Given the description of an element on the screen output the (x, y) to click on. 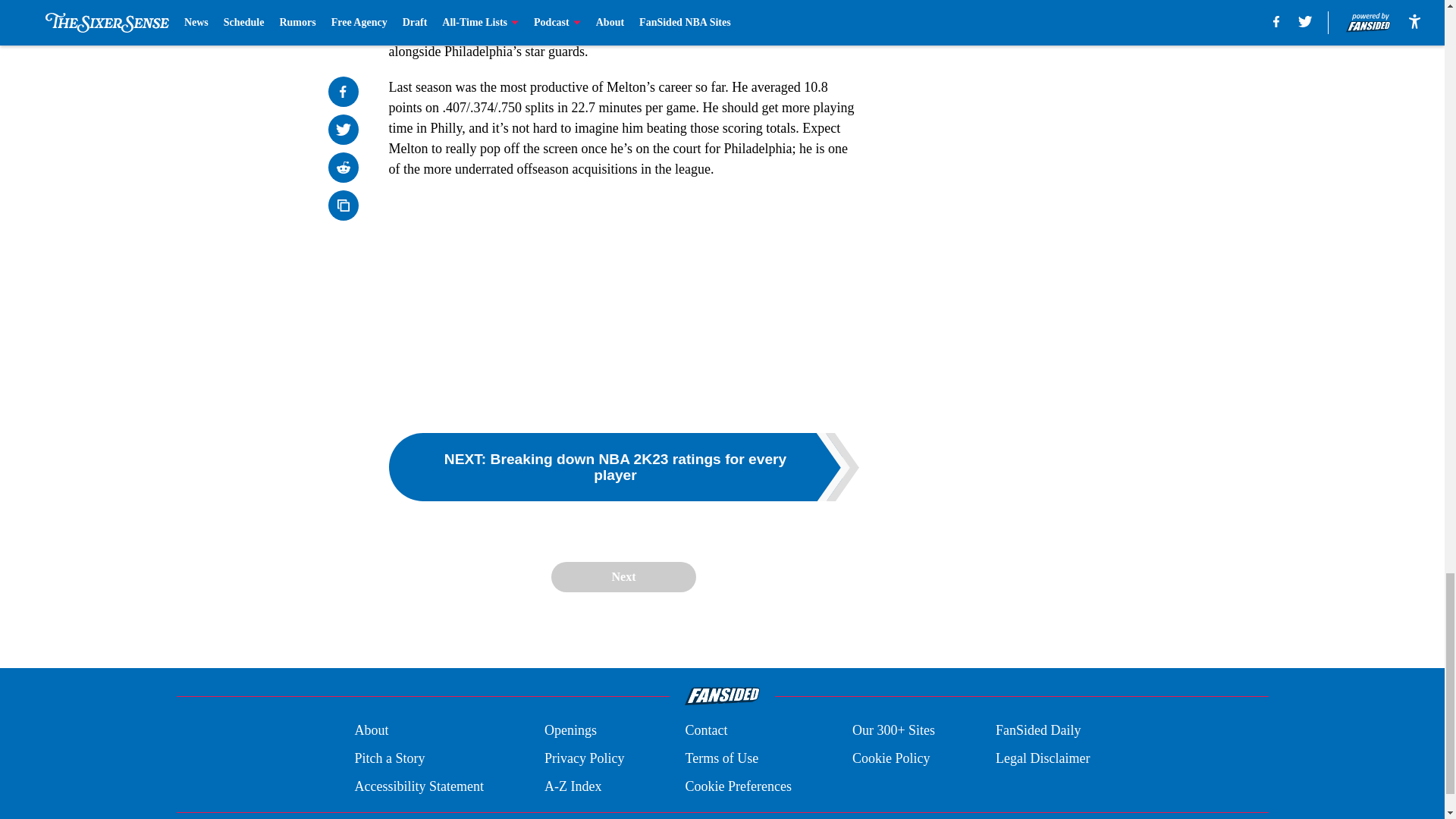
Contact (705, 730)
NEXT: Breaking down NBA 2K23 ratings for every player (623, 467)
FanSided Daily (1038, 730)
Next (622, 576)
Openings (570, 730)
About (370, 730)
